Given the description of an element on the screen output the (x, y) to click on. 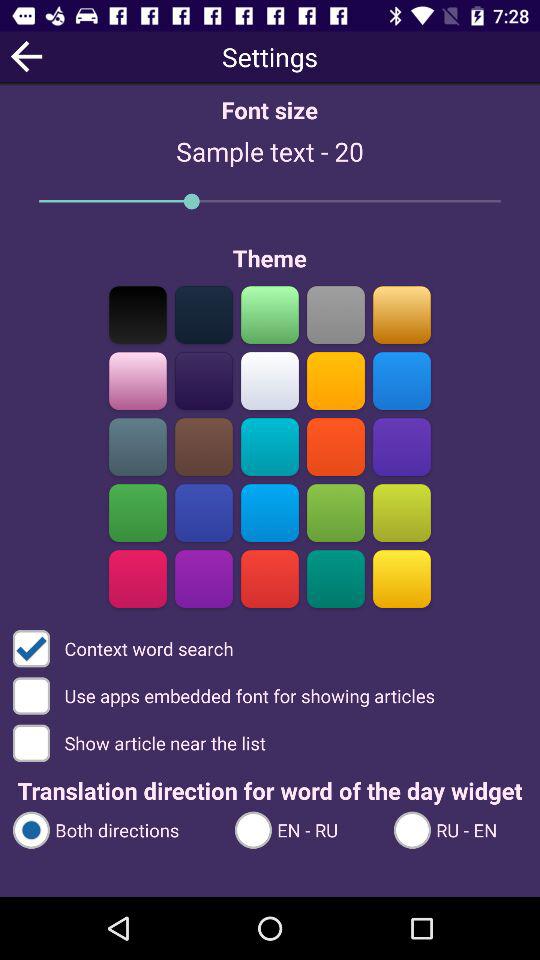
click on the third row of second colour box (203, 446)
